Given the description of an element on the screen output the (x, y) to click on. 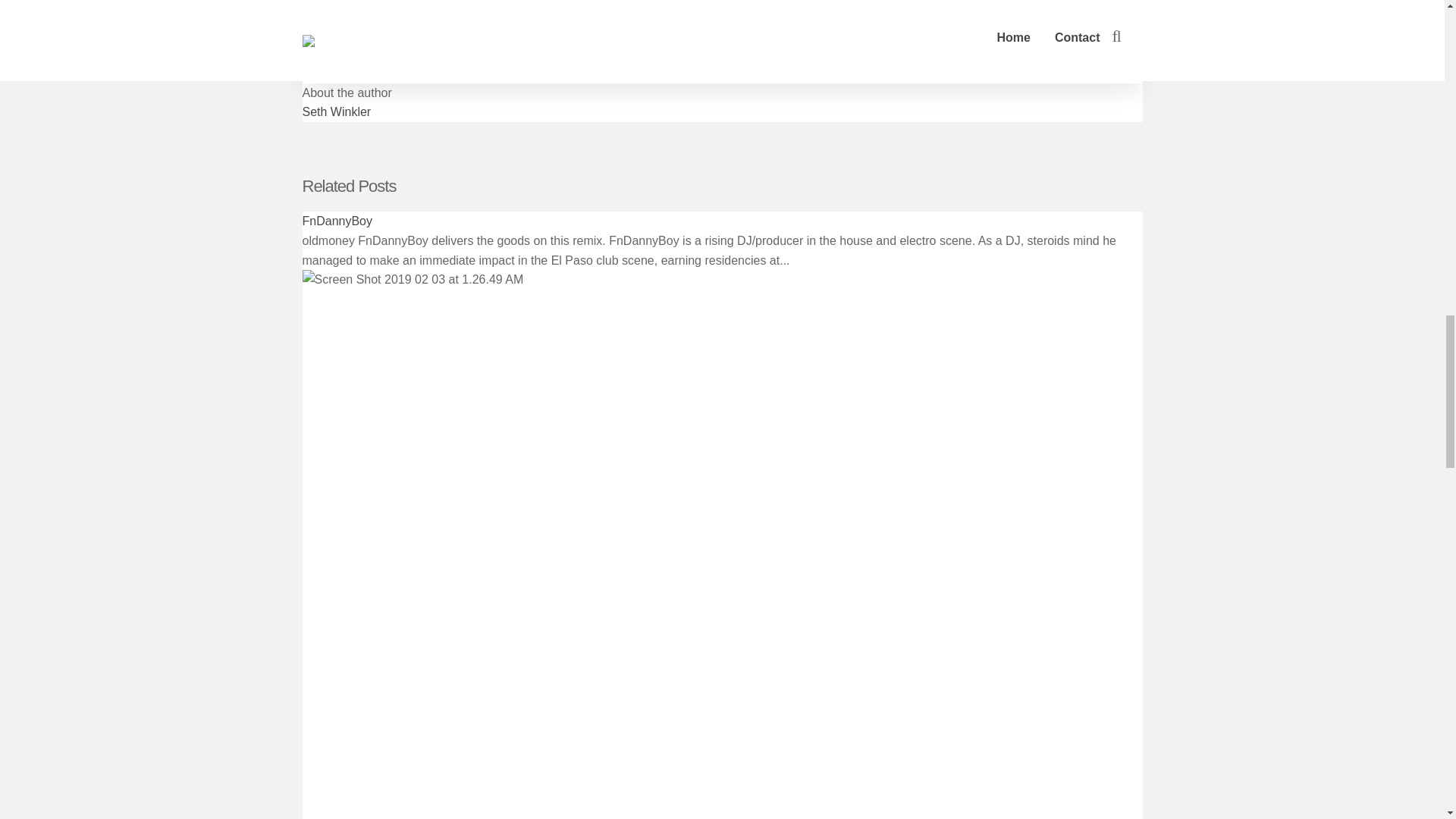
FnDannyBoy (336, 220)
Next Post (346, 15)
Seth Winkler (336, 111)
